Given the description of an element on the screen output the (x, y) to click on. 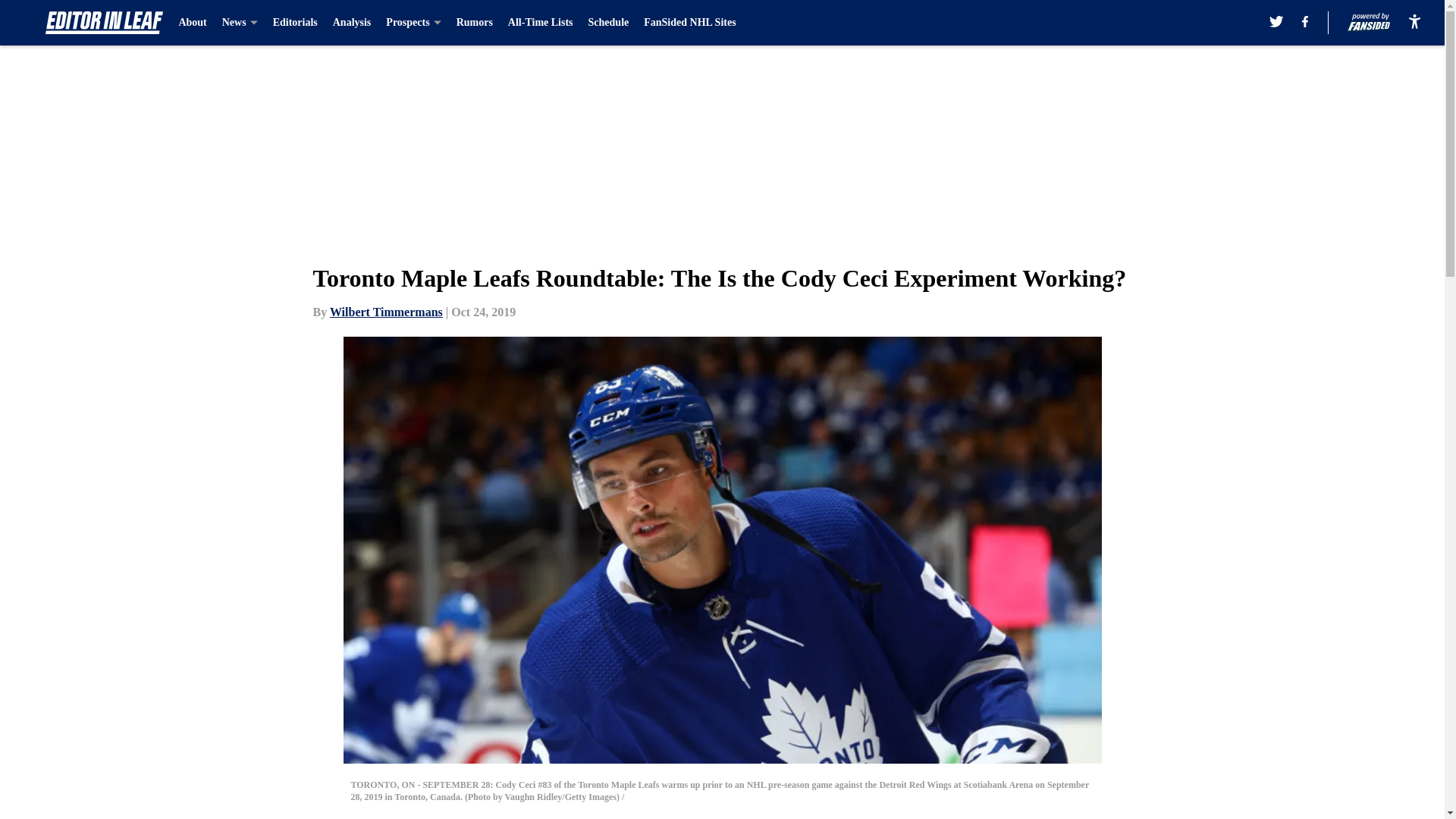
Analysis (352, 22)
Editorials (295, 22)
Schedule (608, 22)
Wilbert Timmermans (386, 311)
All-Time Lists (540, 22)
Rumors (475, 22)
About (191, 22)
FanSided NHL Sites (689, 22)
